Given the description of an element on the screen output the (x, y) to click on. 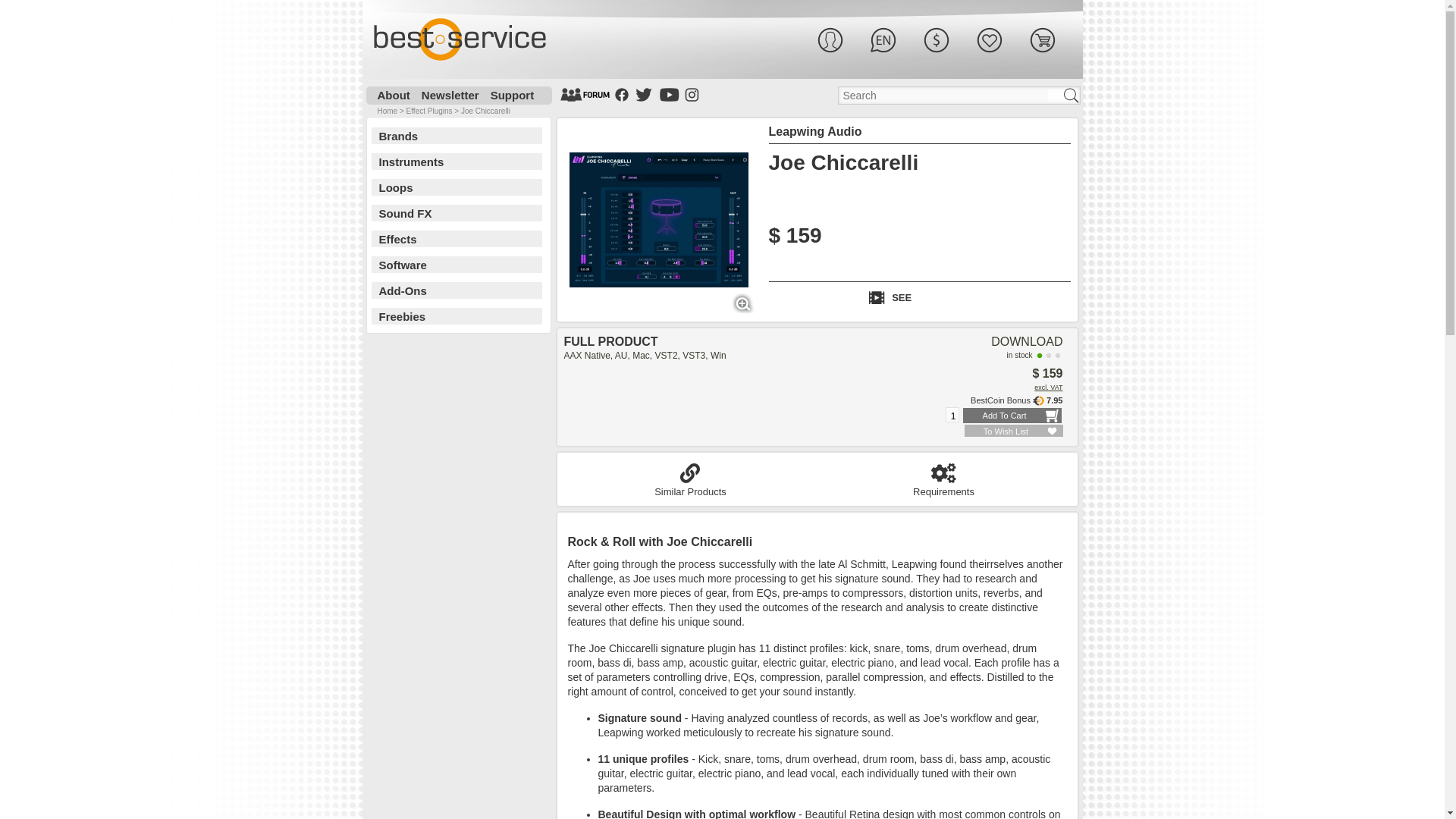
Instagram (691, 94)
Facebook (621, 94)
KVR Forum (584, 94)
YouTube (668, 94)
Twitter (643, 94)
1 (952, 416)
